Given the description of an element on the screen output the (x, y) to click on. 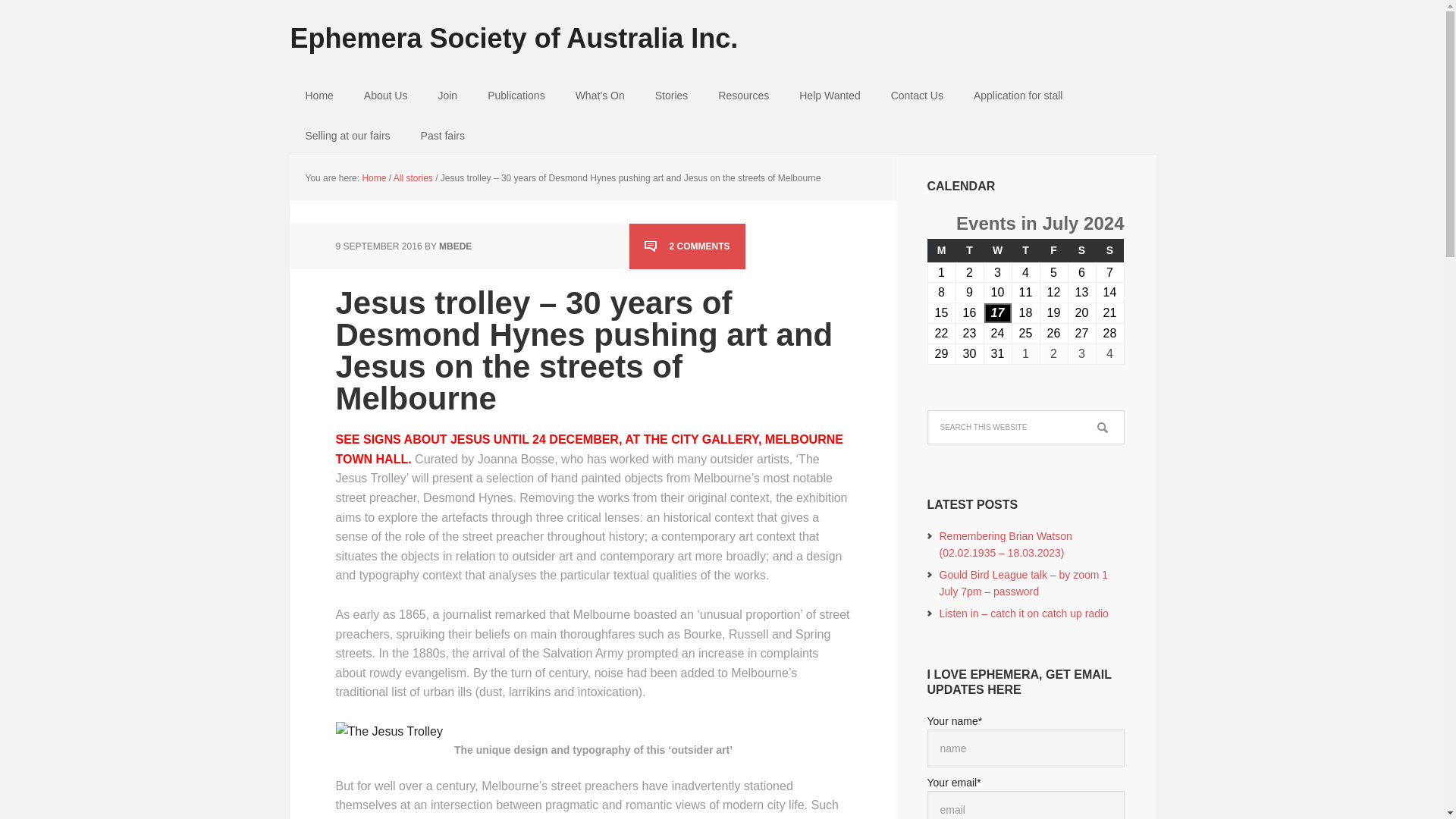
Past fairs (443, 136)
About Us (386, 96)
Application for stall (1018, 96)
Publications (515, 96)
MBEDE (455, 245)
Contact Us (917, 96)
Selling at our fairs (346, 136)
Join (446, 96)
Help Wanted (829, 96)
Home (373, 177)
Stories (671, 96)
All stories (412, 177)
Resources (743, 96)
